Given the description of an element on the screen output the (x, y) to click on. 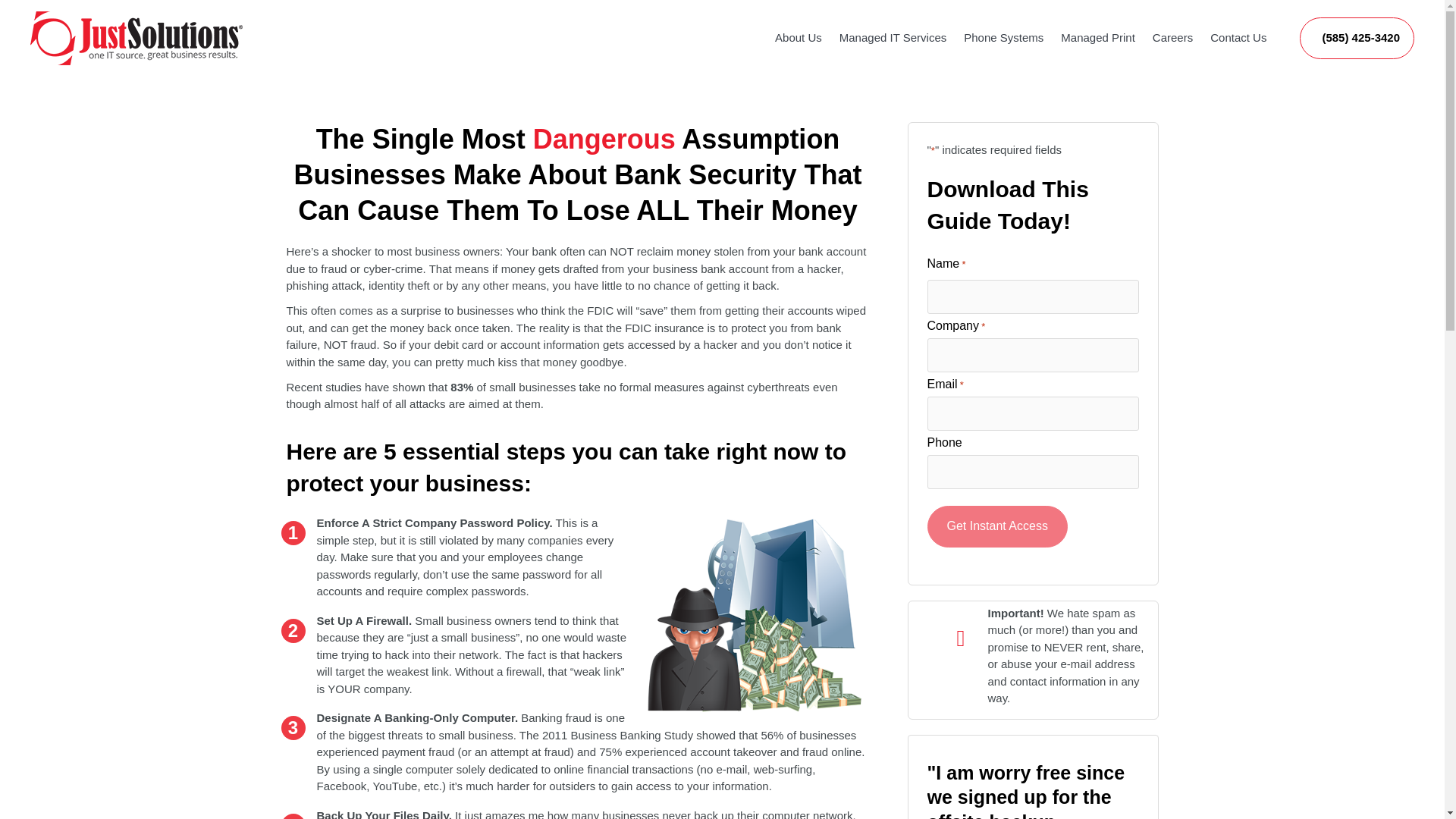
Phone Systems (1003, 1)
Get Instant Access (996, 526)
Get Instant Access (996, 526)
Contact Us (1238, 8)
Careers (1172, 7)
Managed Print (1098, 3)
